Given the description of an element on the screen output the (x, y) to click on. 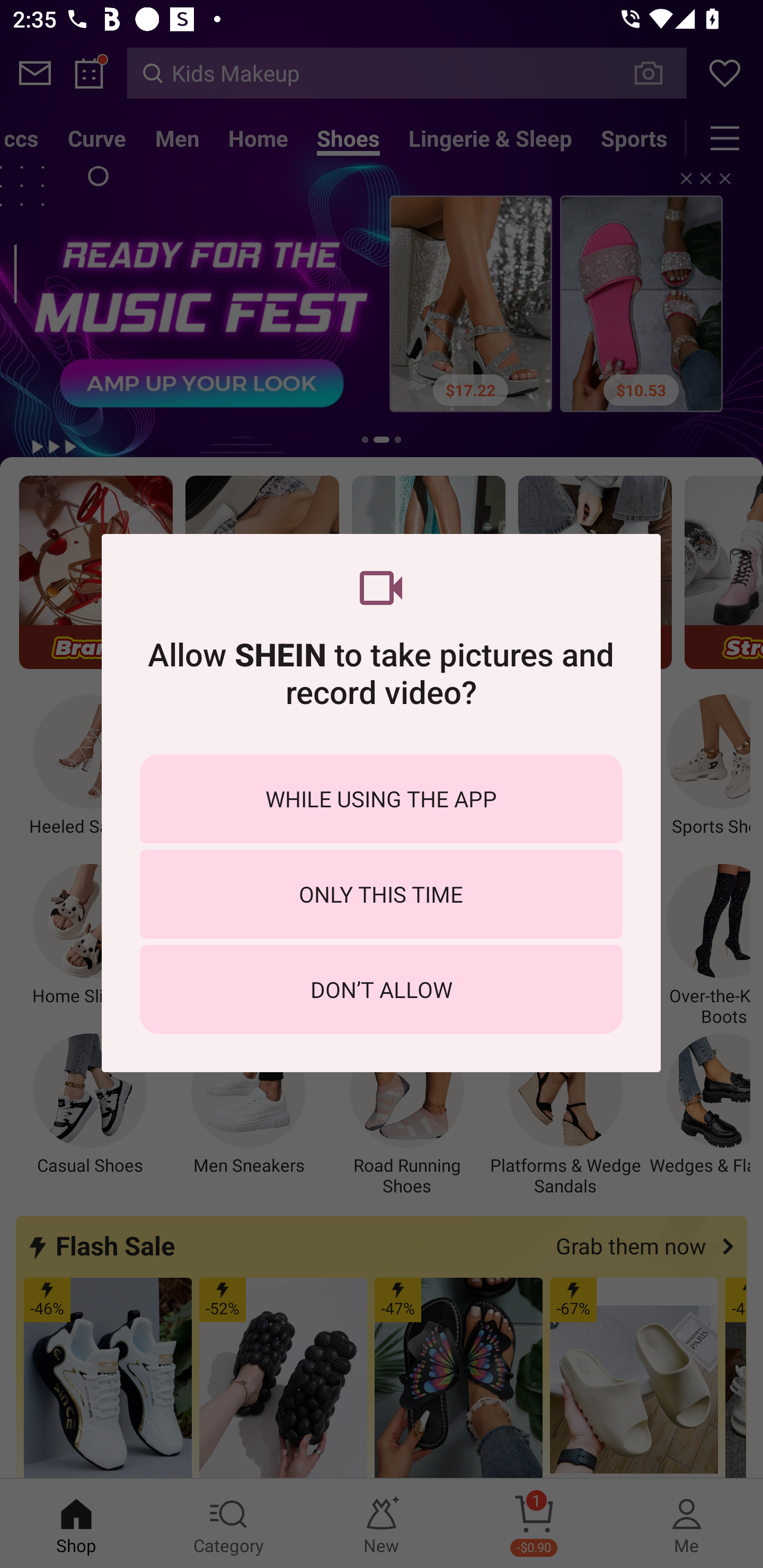
WHILE USING THE APP (380, 798)
ONLY THIS TIME (380, 894)
DON’T ALLOW (380, 989)
